Given the description of an element on the screen output the (x, y) to click on. 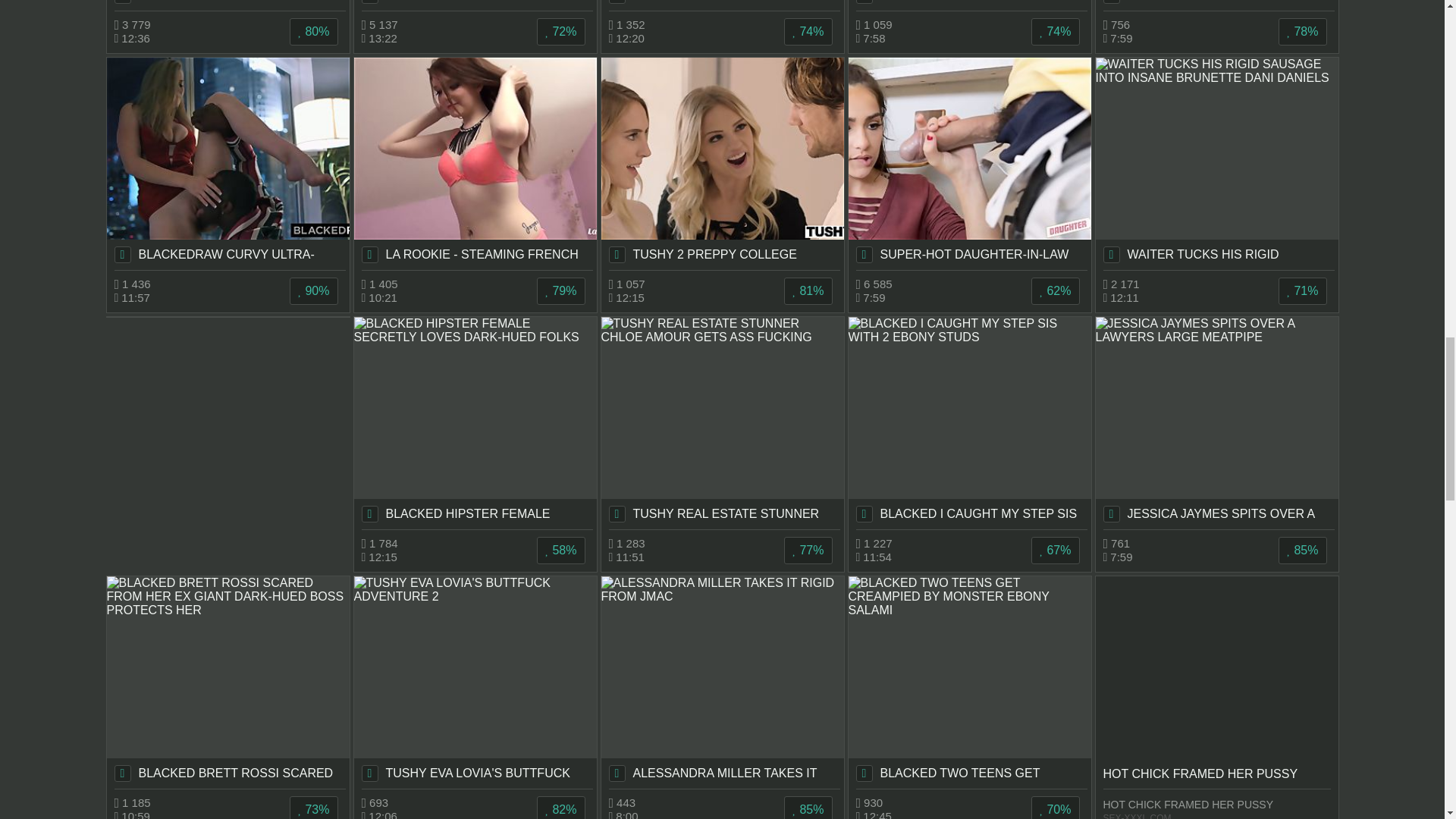
BLACKED HIPSTER FEMALE SECRETLY LOVES (474, 422)
ALESSANDRA MILLER TAKES IT RIGID FROM (721, 682)
BLACKED LANA RHODES CAN'T STOP HOTWIFE (227, 5)
BLACKEDRAW CURVY ULTRA-CUTIE HOOKS UP (227, 163)
BLACKED BRETT ROSSI SCARED FROM HER EX (227, 682)
BACKSIDES BUERO - MISCHIEVOUS OFFICE (474, 5)
LA ROOKIE - STEAMING FRENCH NEW-COMER (474, 163)
JESSICA JAYMES SPITS OVER A LAWYERS (1216, 422)
ROOFTOP DEEP DUAL PENETRATION FOR (968, 5)
TUSHY 2 PREPPY COLLEGE GIRLS NEED TO (721, 163)
BLACKED TWO TEENS GET CREAMPIED BY (968, 682)
BLACKED TEENAGER HOOKS UP WITH BIG BLACK (721, 5)
DANNY D HANDLES HIMSELF (1216, 5)
BLACKED I CAUGHT MY STEP SIS WITH 2 (968, 422)
